Given the description of an element on the screen output the (x, y) to click on. 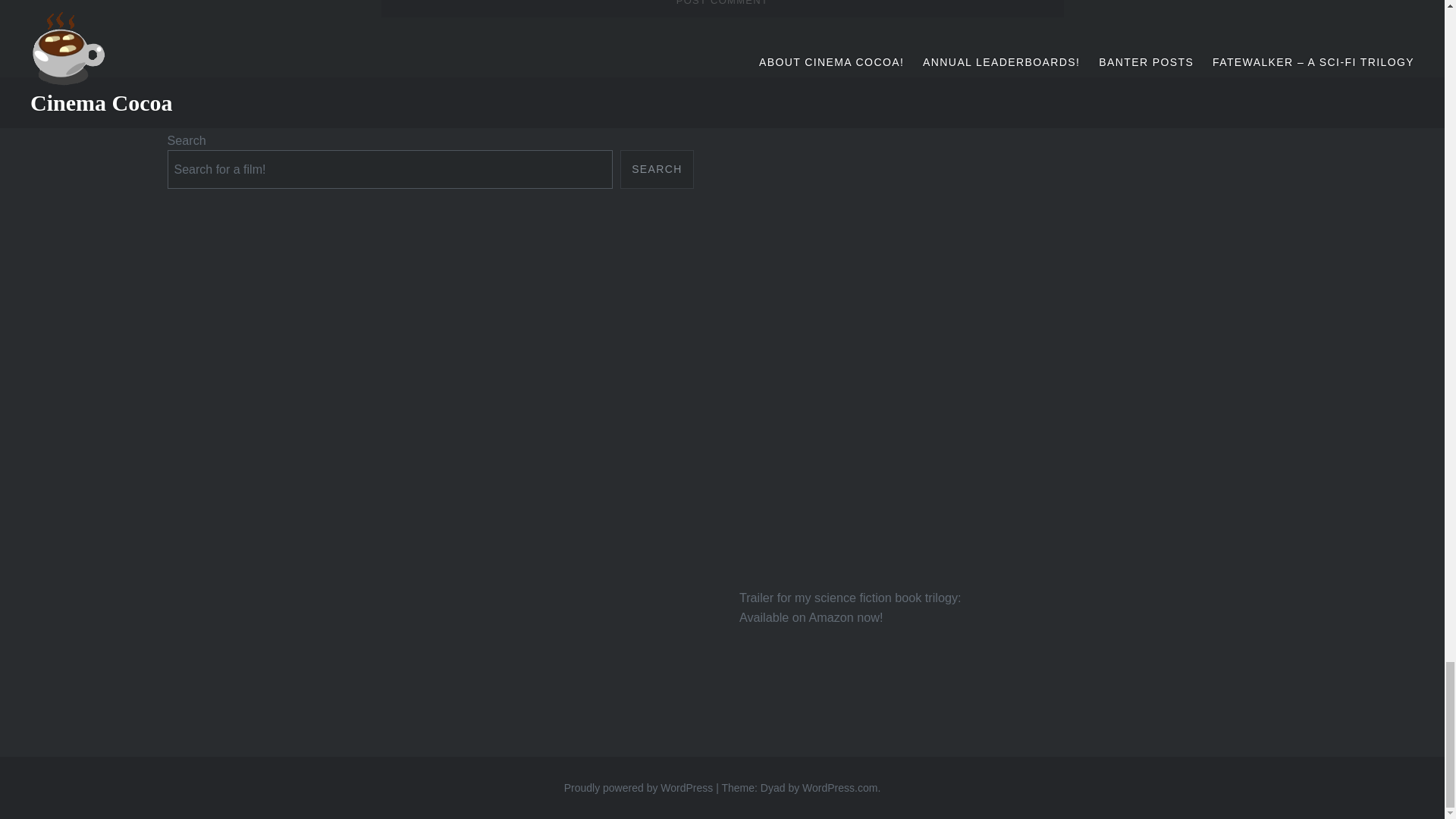
WordPress.com (839, 787)
SEARCH (657, 169)
Post Comment (721, 9)
Post Comment (721, 9)
Proudly powered by WordPress (638, 787)
